Given the description of an element on the screen output the (x, y) to click on. 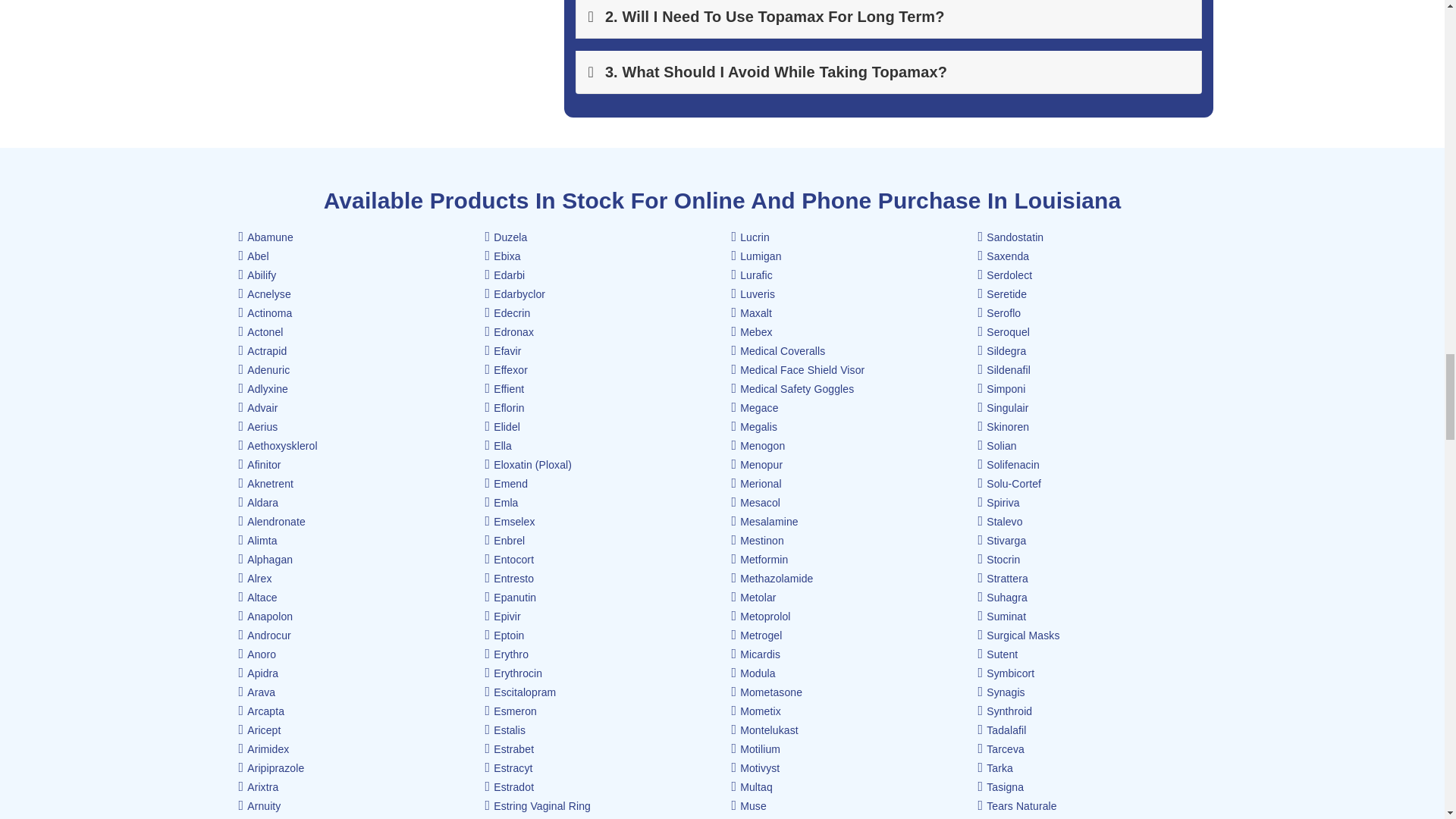
Adenuric (263, 369)
Afinitor (259, 464)
Actonel (260, 331)
Abilify (257, 275)
Aldara (258, 502)
Aethoxysklerol (277, 445)
Aerius (258, 426)
Actrapid (262, 350)
Actinoma (265, 313)
Alendronate (271, 521)
